Given the description of an element on the screen output the (x, y) to click on. 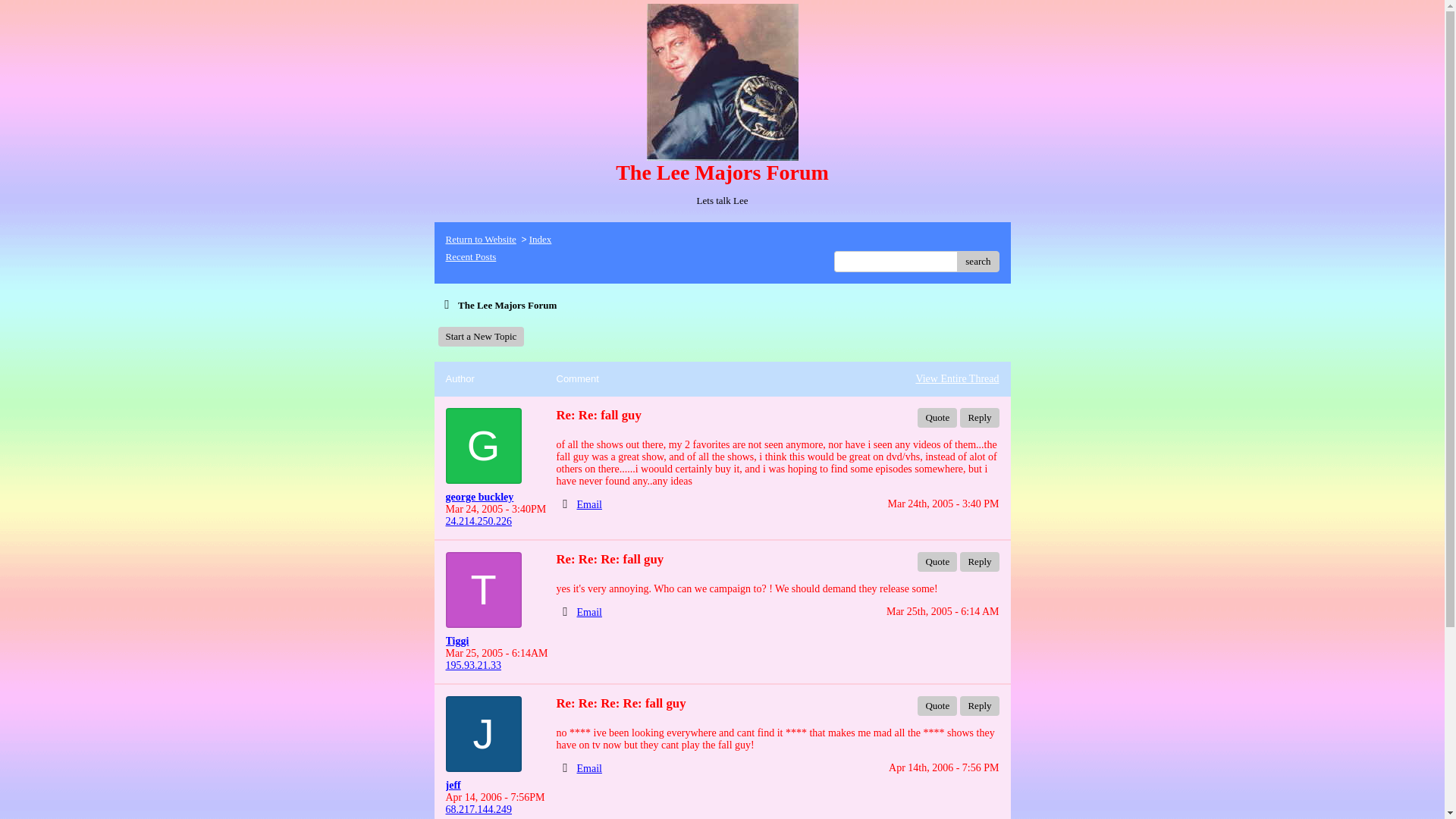
Quote (936, 417)
Messages from this User (453, 785)
Lookup all posts from this IP Address (473, 665)
Email (589, 612)
Index (540, 238)
george buckley (494, 497)
Start a New Topic (481, 336)
Tiggi (494, 641)
View Entire Thread (956, 378)
Messages from this User (479, 496)
search (977, 260)
Recent Posts (470, 256)
Email (589, 504)
195.93.21.33 (473, 665)
Lookup all posts from this IP Address (478, 521)
